Given the description of an element on the screen output the (x, y) to click on. 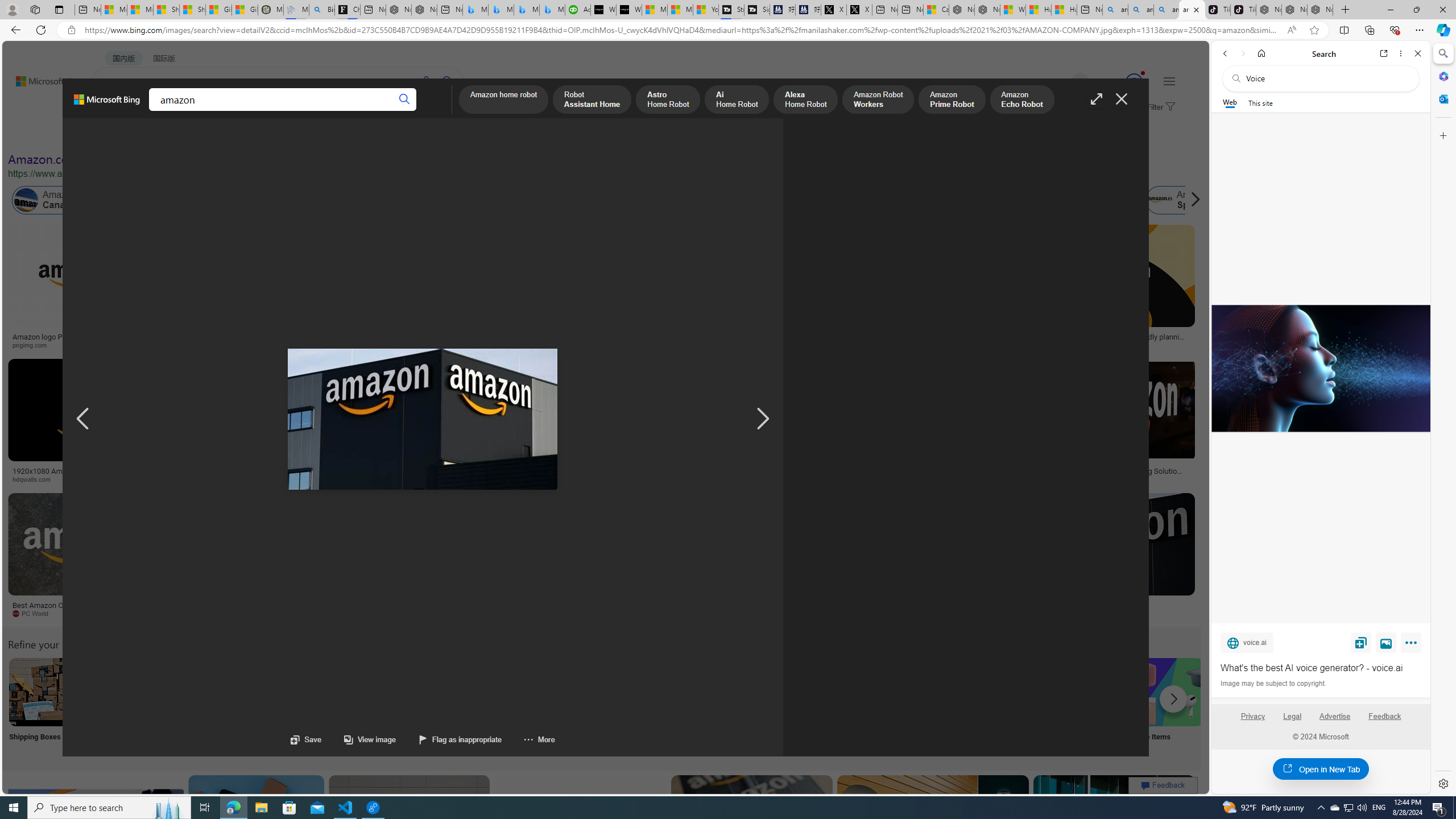
Amazon Clip Art (192, 691)
Full screen (1096, 99)
Amazon Cloud (344, 199)
Ai Home Robot (737, 100)
License (378, 135)
Amazon Canada Online (65, 199)
Microsoft Bing Travel - Stays in Bangkok, Bangkok, Thailand (500, 9)
Listen: What's next for Amazon?usatoday.comSave (406, 289)
usatoday.com (403, 344)
Search (1442, 53)
Accounting Software for Accountants, CPAs and Bookkeepers (577, 9)
